Given the description of an element on the screen output the (x, y) to click on. 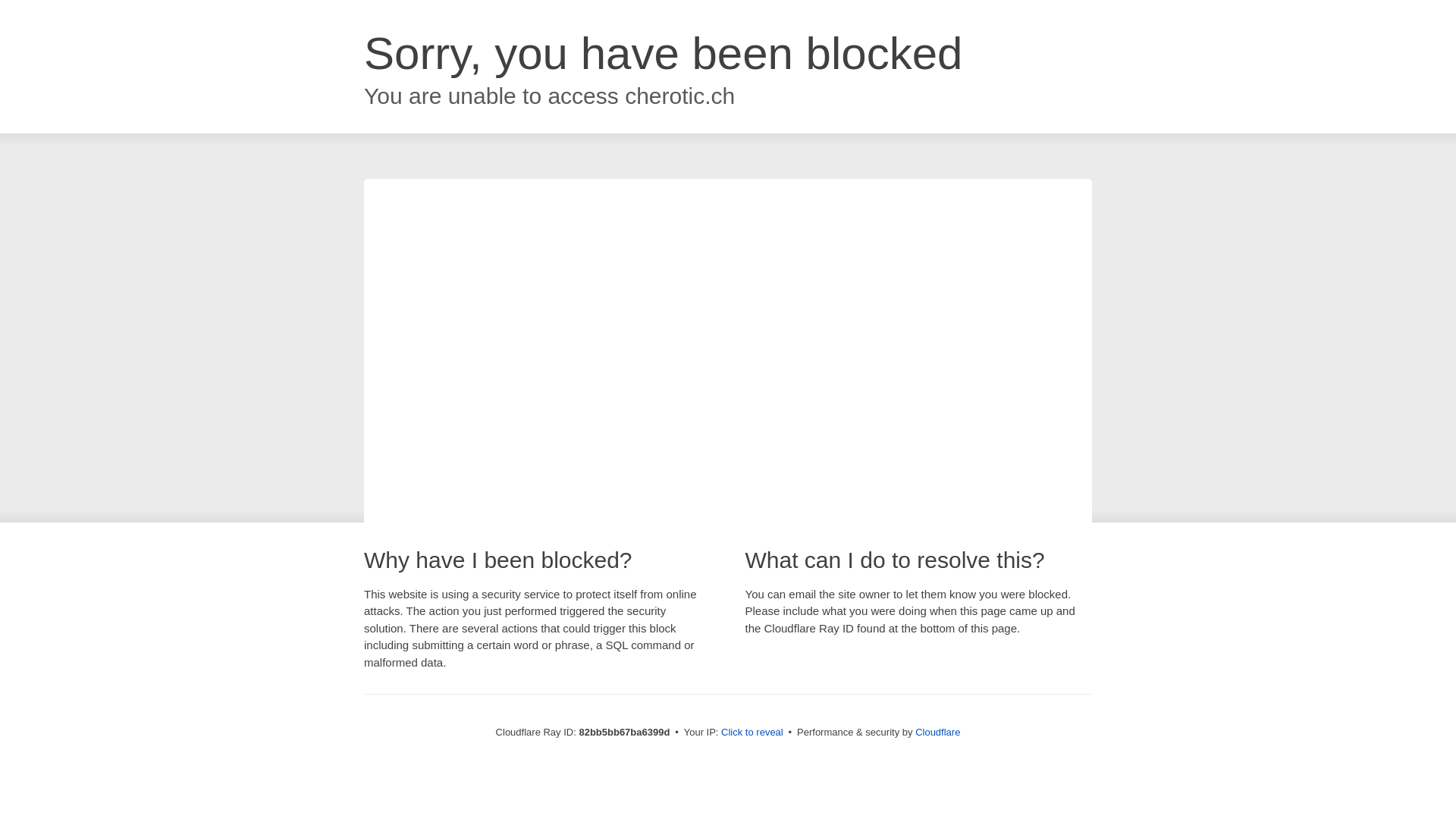
Click to reveal Element type: text (752, 732)
Cloudflare Element type: text (937, 731)
